Given the description of an element on the screen output the (x, y) to click on. 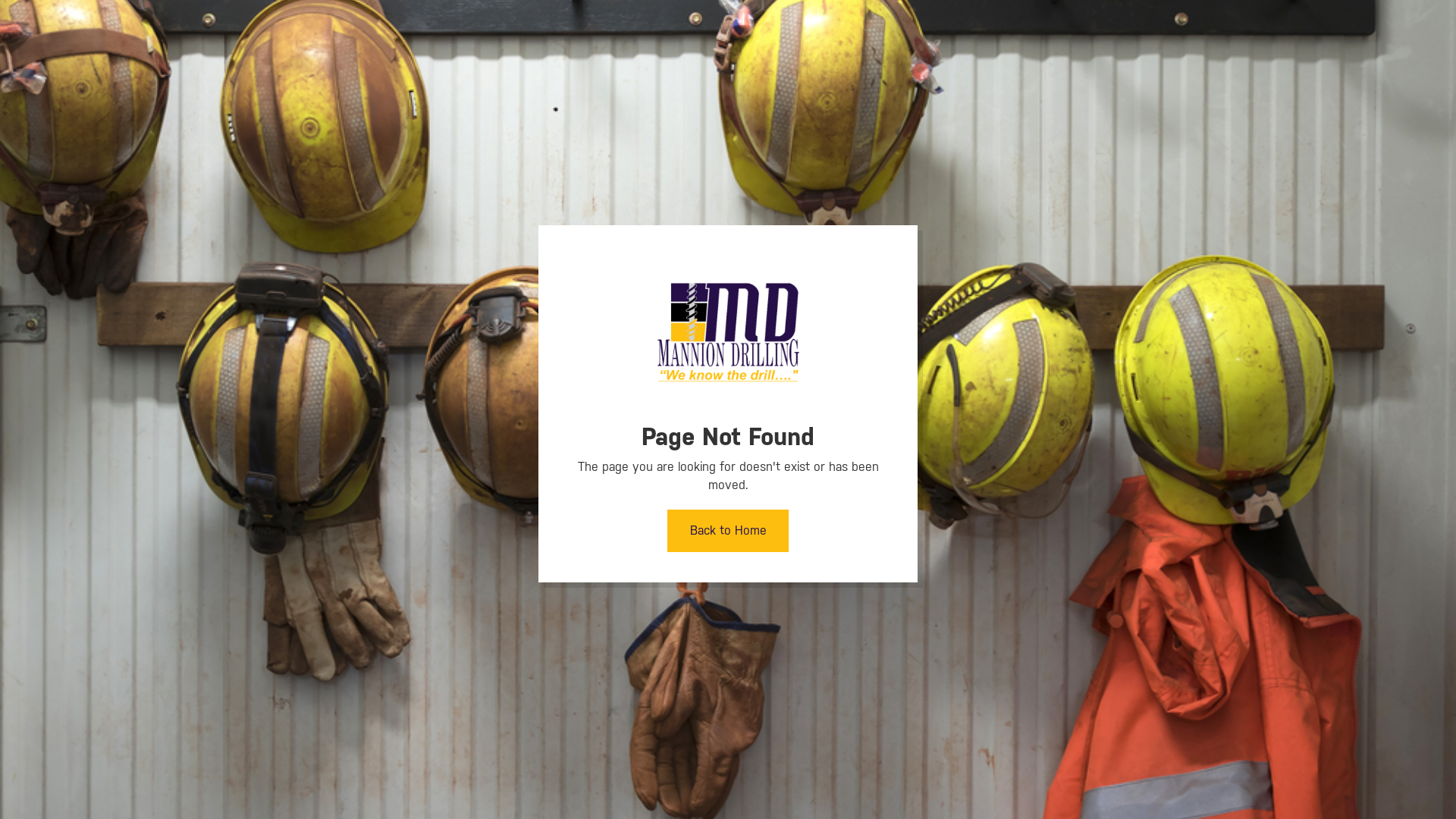
Back to Home Element type: text (727, 530)
